Given the description of an element on the screen output the (x, y) to click on. 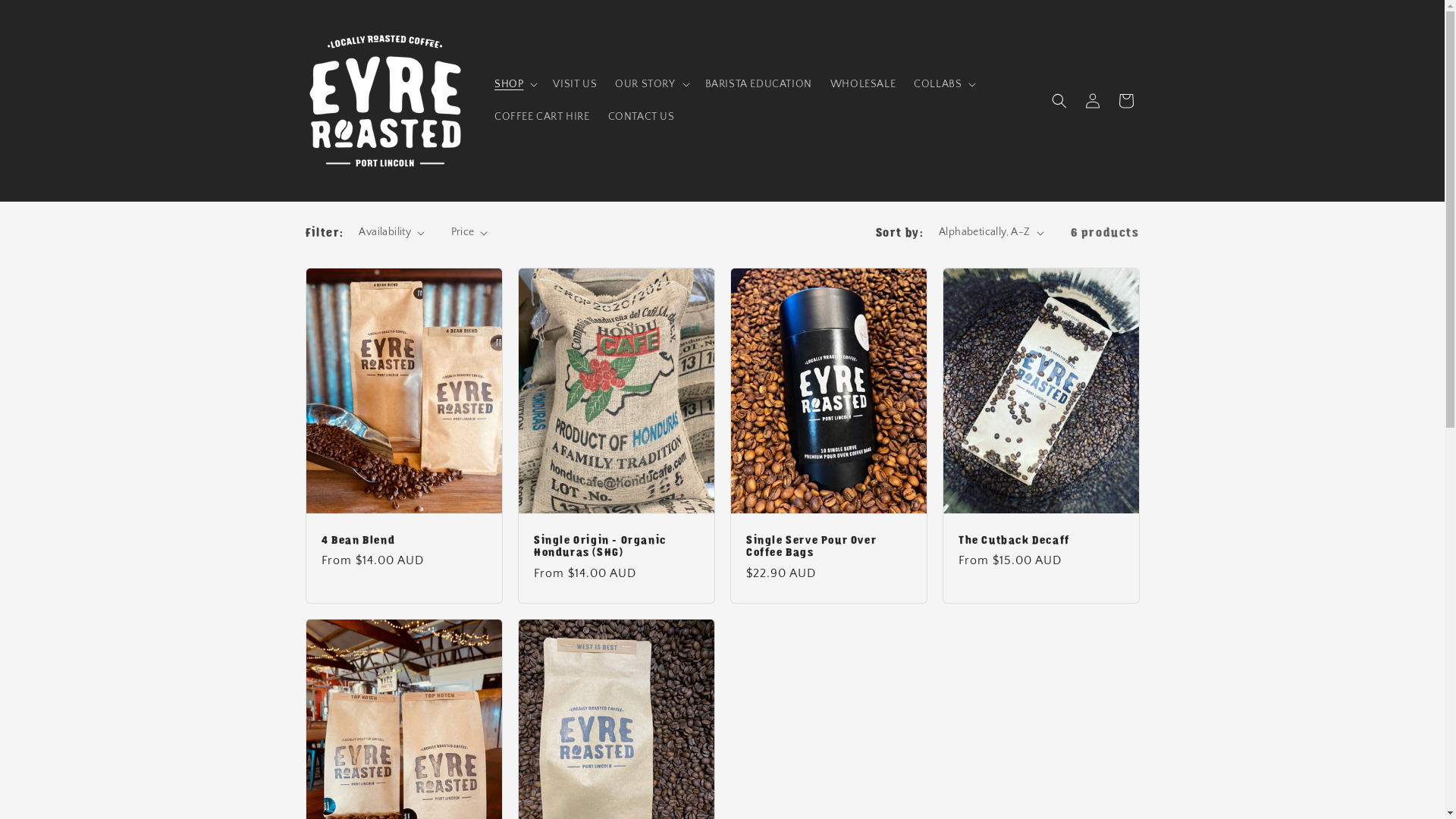
VISIT US Element type: text (574, 84)
Single Serve Pour Over Coffee Bags Element type: text (828, 546)
The Cutback Decaff Element type: text (1040, 539)
4 Bean Blend Element type: text (403, 539)
Log in Element type: text (1091, 99)
Cart Element type: text (1125, 99)
Single Origin - Organic Honduras (SHG) Element type: text (616, 546)
CONTACT US Element type: text (641, 115)
WHOLESALE Element type: text (862, 84)
COFFEE CART HIRE Element type: text (542, 115)
BARISTA EDUCATION Element type: text (758, 84)
